Given the description of an element on the screen output the (x, y) to click on. 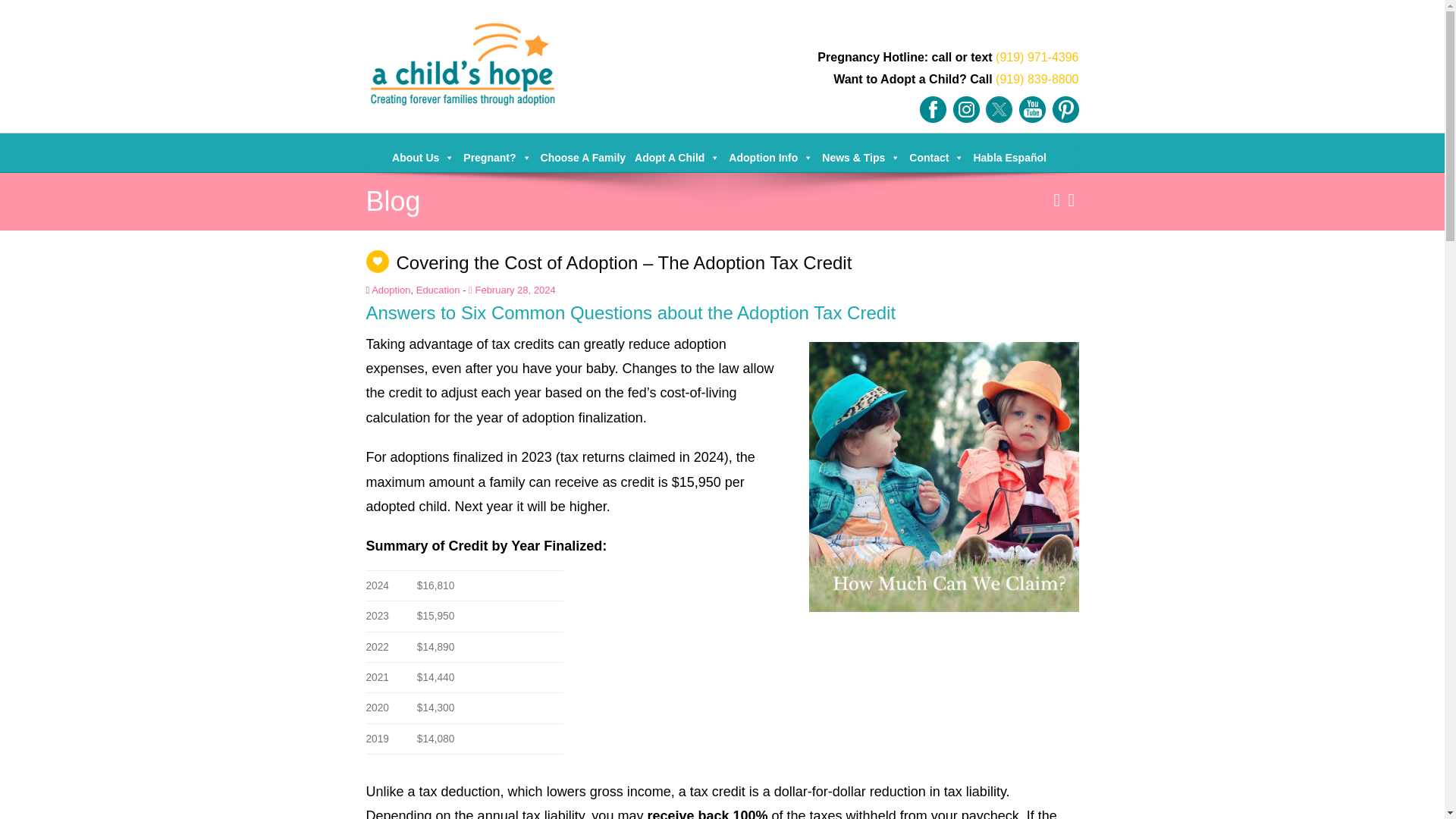
Pregnant? (496, 156)
12:53 pm (512, 289)
About Us (422, 156)
